Given the description of an element on the screen output the (x, y) to click on. 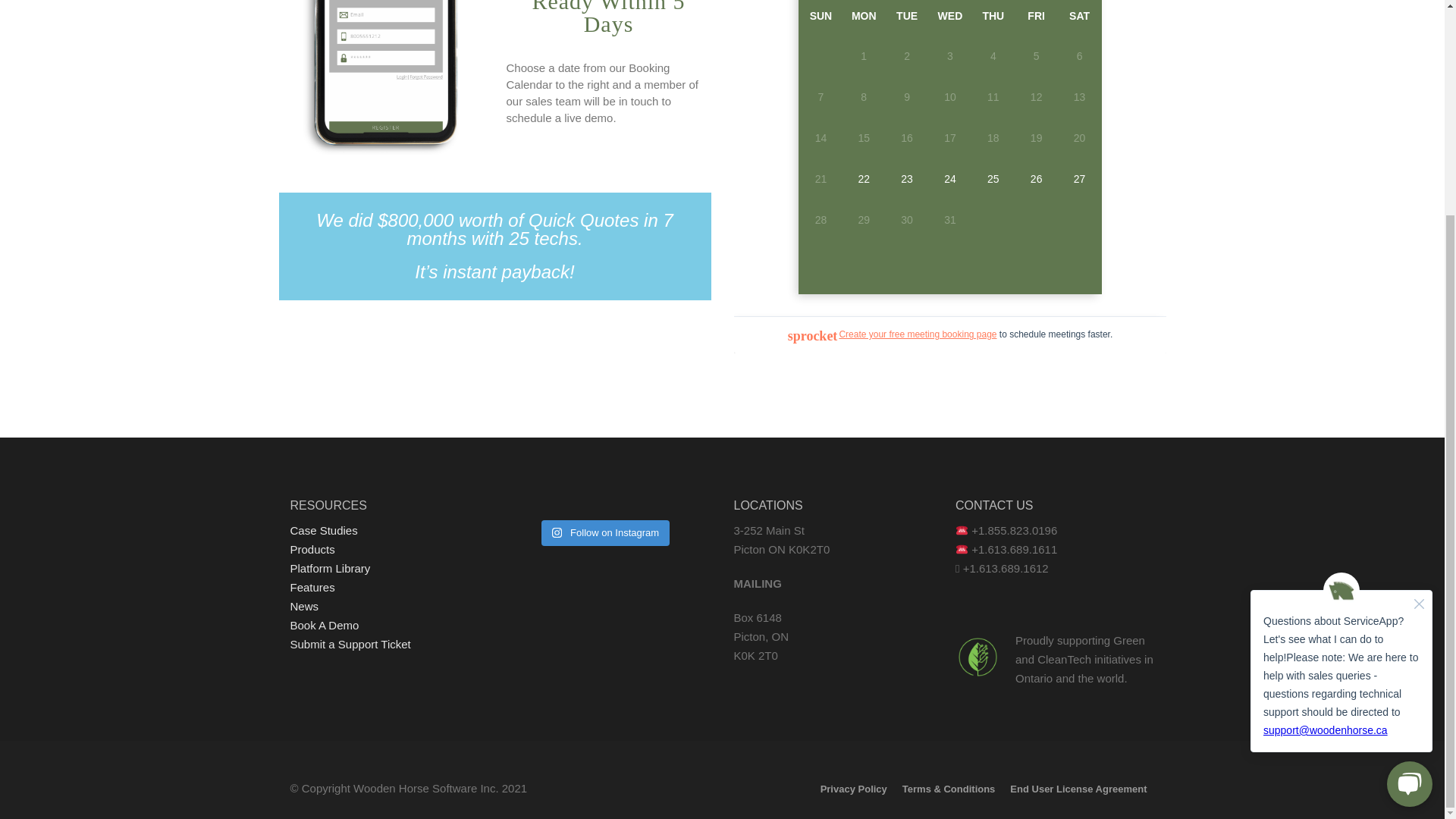
Book A Demo (323, 625)
Privacy Policy (853, 788)
End User License Agreement (1078, 788)
Features (311, 586)
Submit a Support Ticket (349, 644)
Products (311, 549)
Platform Library (329, 567)
Case Studies (322, 530)
Follow on Instagram (605, 533)
News (303, 605)
